Given the description of an element on the screen output the (x, y) to click on. 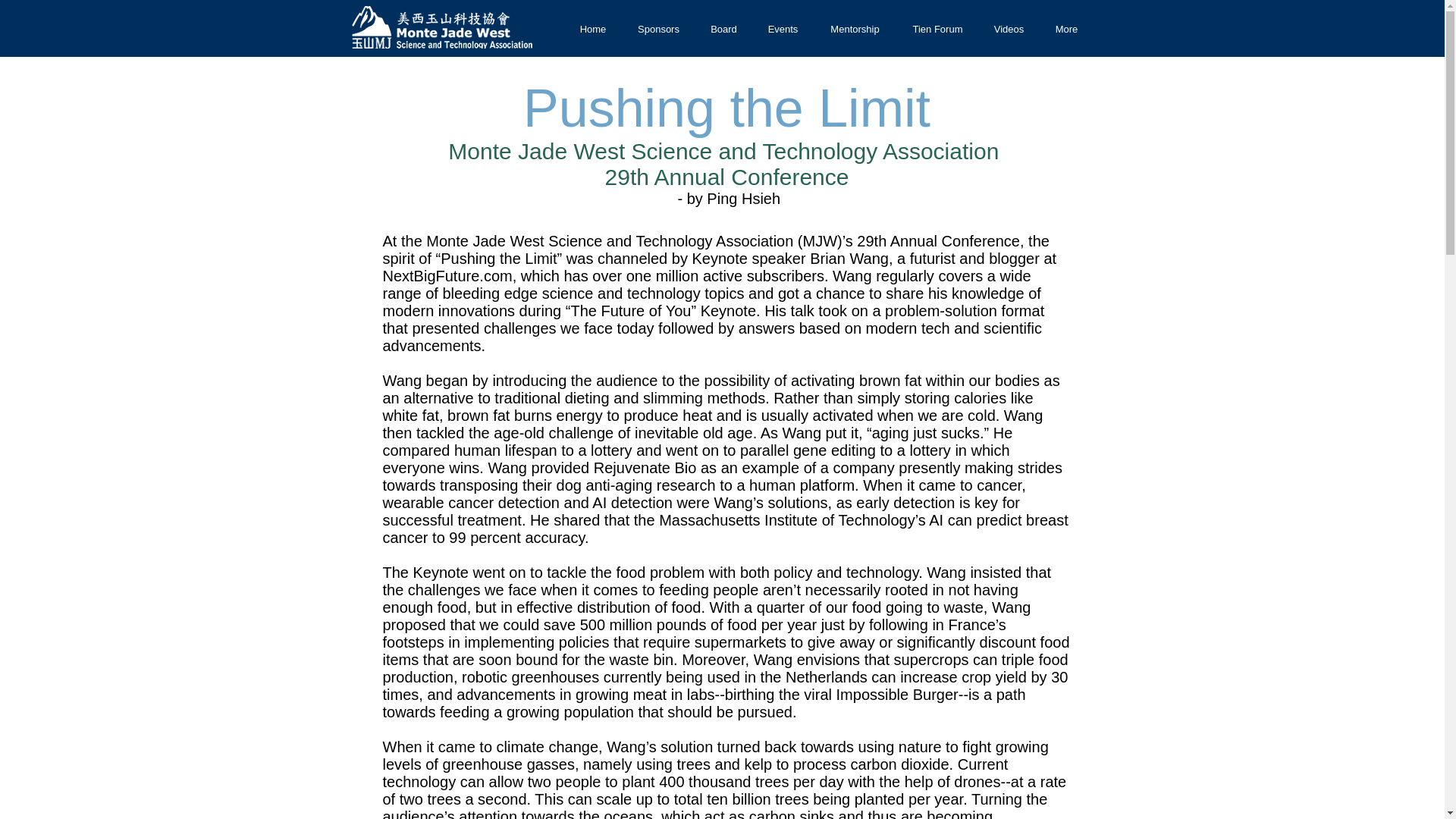
Board (723, 28)
Home (593, 28)
Events (782, 28)
Mentorship (854, 28)
Tien Forum (937, 28)
Sponsors (657, 28)
Videos (1008, 28)
